Given the description of an element on the screen output the (x, y) to click on. 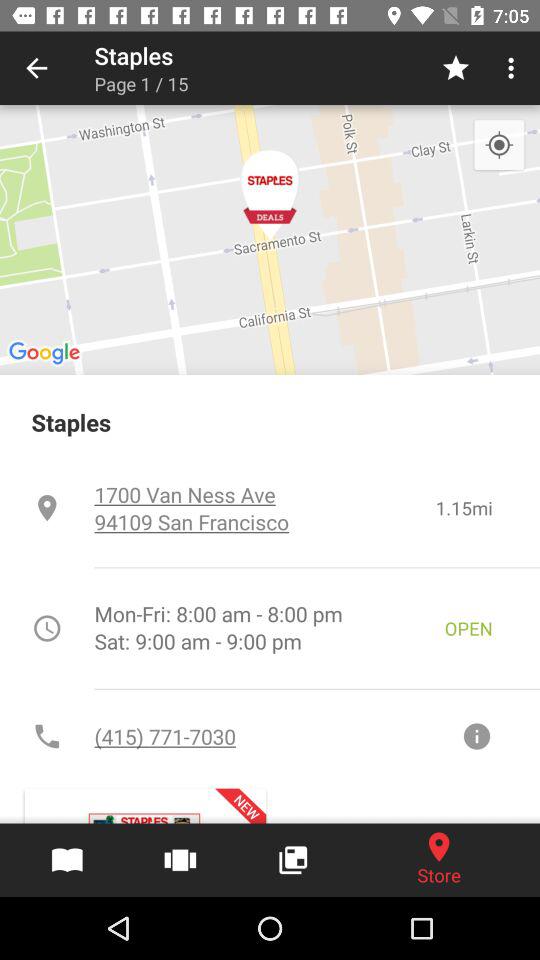
tap the item to the left of 1.15mi (264, 508)
